Given the description of an element on the screen output the (x, y) to click on. 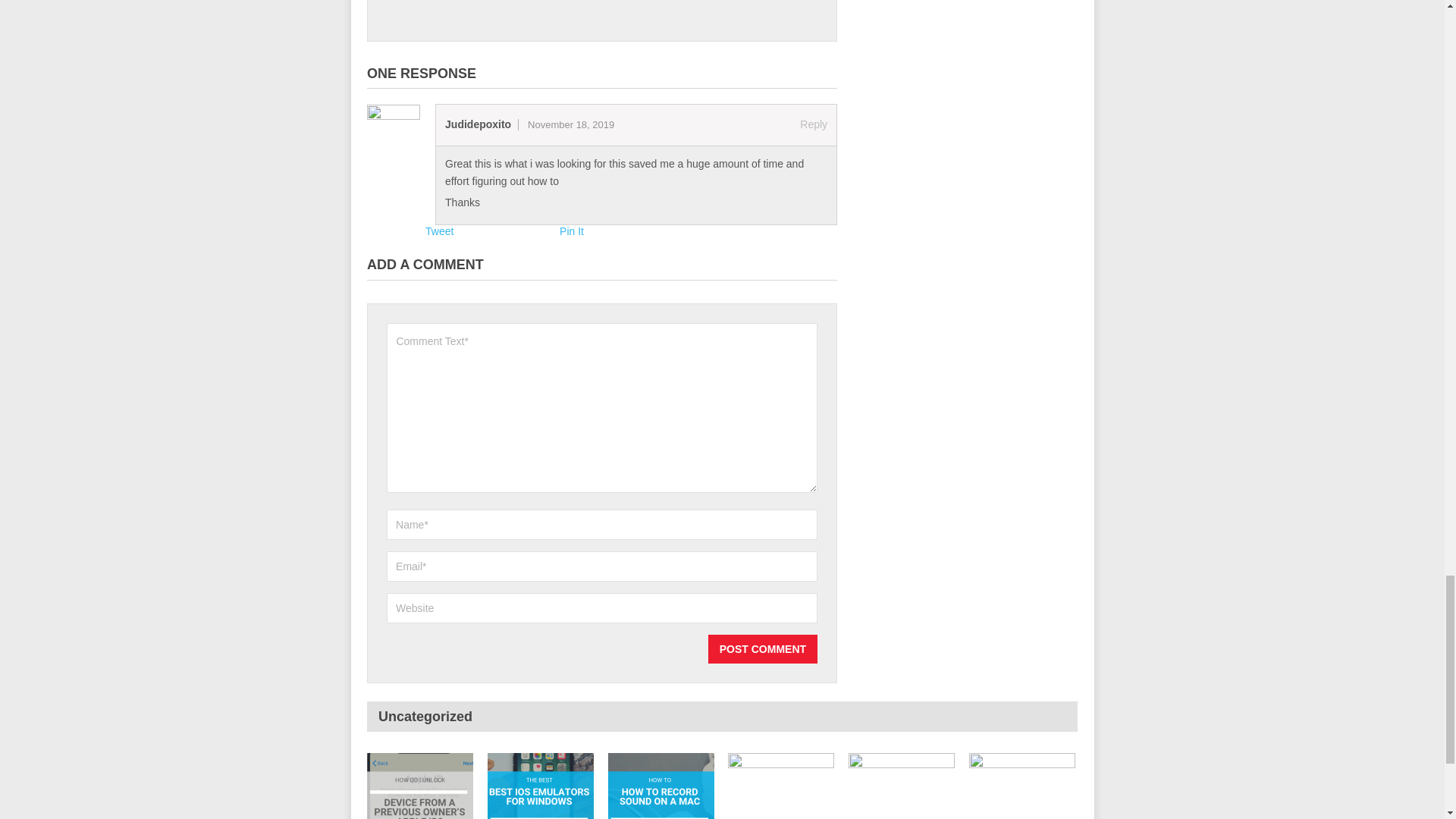
Post Comment (761, 648)
Reply (813, 124)
Post Comment (761, 648)
